Given the description of an element on the screen output the (x, y) to click on. 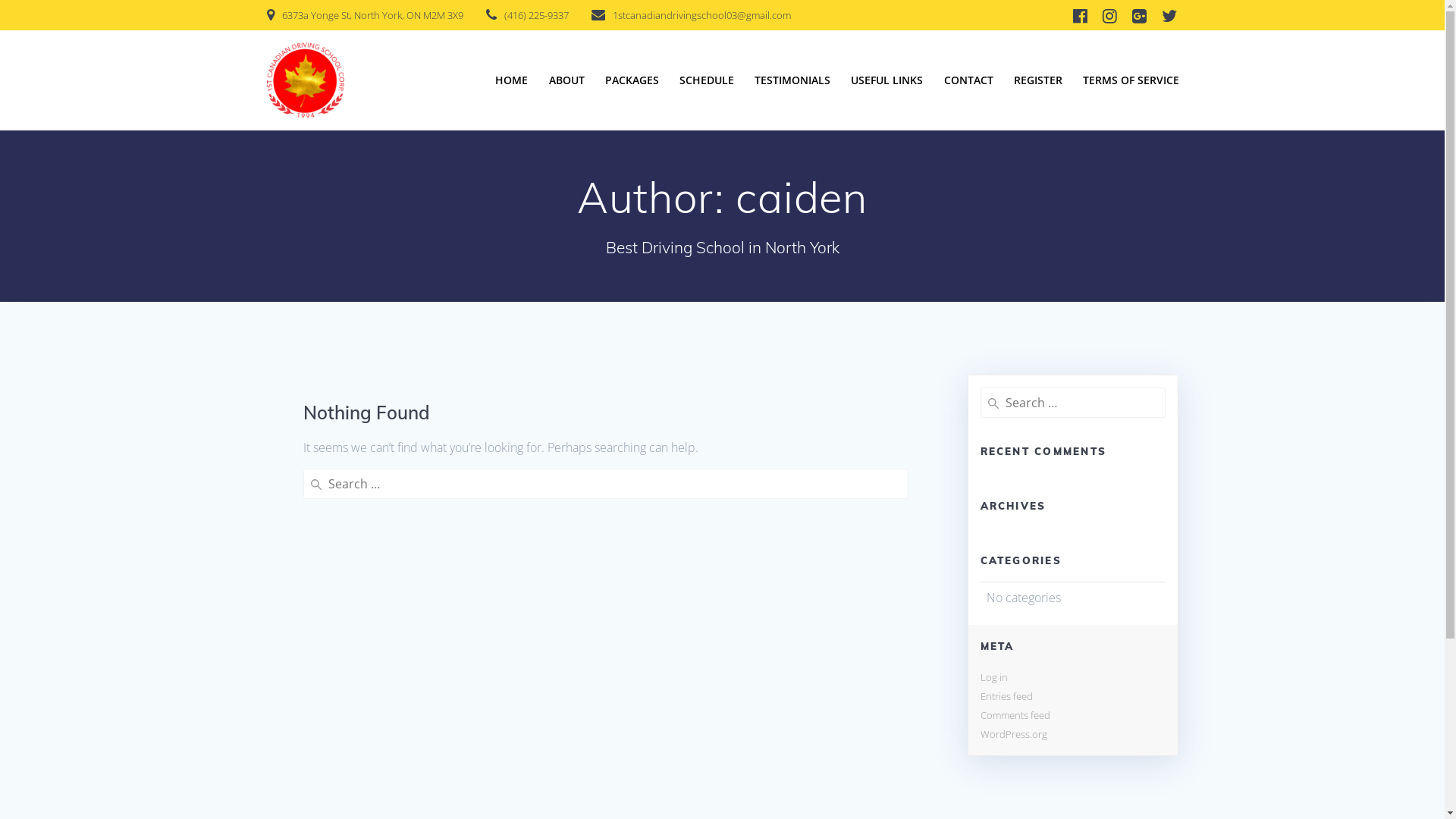
Web Design by Caiden Media Element type: text (1072, 729)
Comments feed Element type: text (1014, 714)
Entries feed Element type: text (1005, 695)
Log in Element type: text (993, 677)
TESTIMONIALS Element type: text (792, 79)
CONTACT Element type: text (968, 79)
TERMS OF SERVICE Element type: text (1130, 79)
PACKAGES Element type: text (631, 79)
USEFUL LINKS Element type: text (886, 79)
ABOUT Element type: text (566, 79)
HOME Element type: text (511, 79)
SCHEDULE Element type: text (706, 79)
REGISTER Element type: text (1037, 79)
WordPress.org Element type: text (1012, 733)
